Given the description of an element on the screen output the (x, y) to click on. 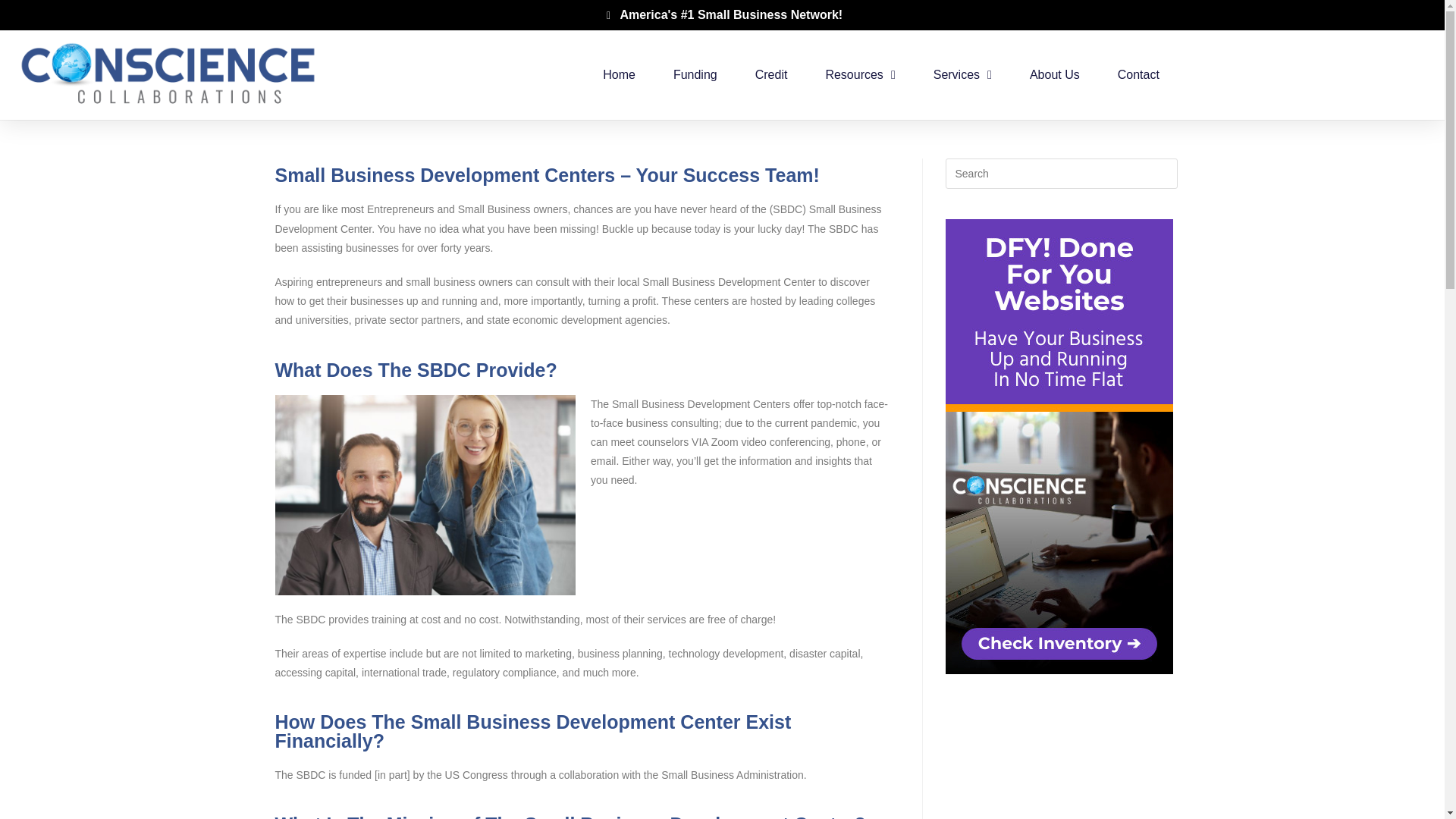
Funding (694, 74)
Services (962, 74)
Credit (771, 74)
Resources (860, 74)
About Us (1054, 74)
Contact (1138, 74)
Home (618, 74)
